Given the description of an element on the screen output the (x, y) to click on. 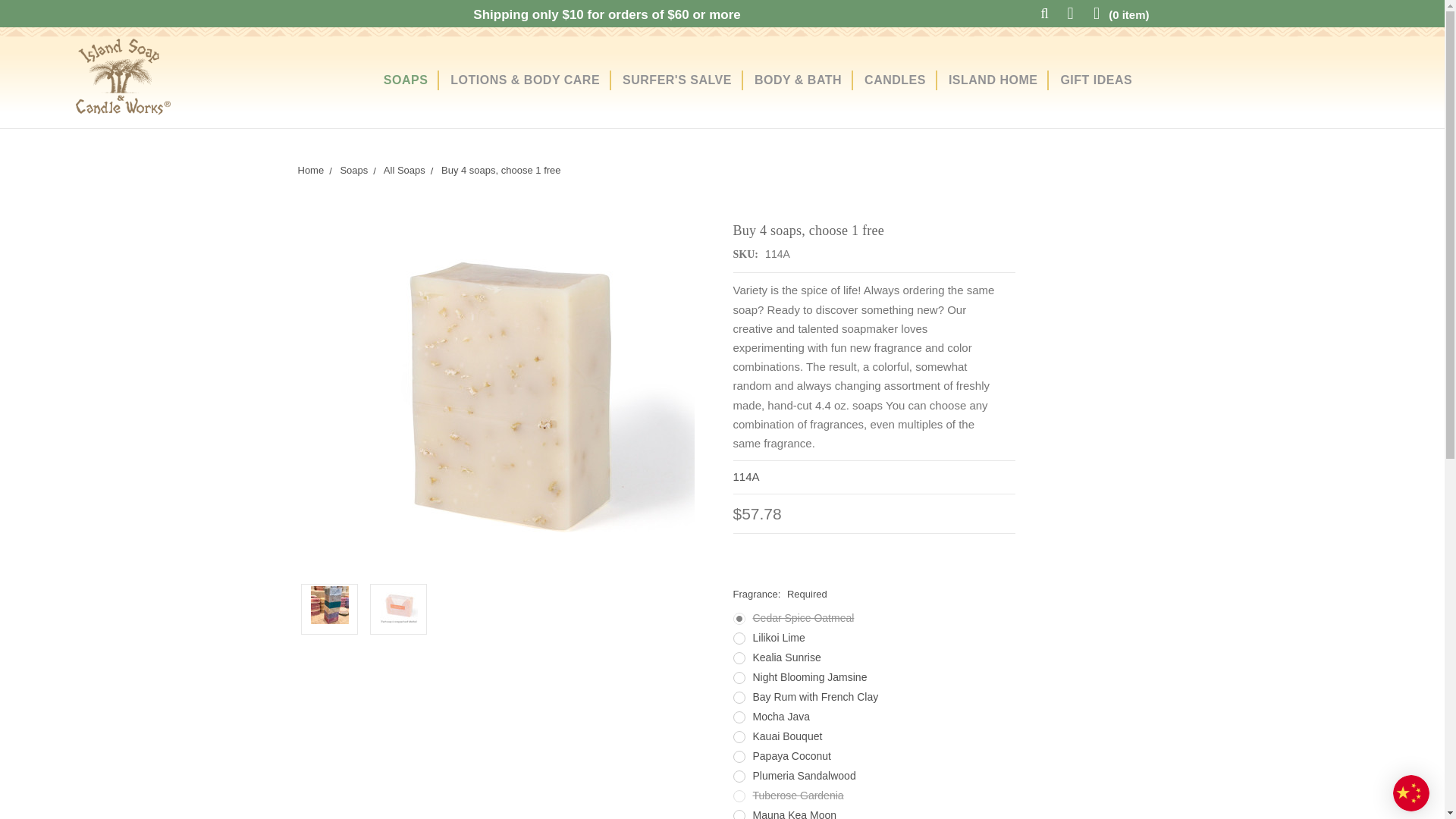
Open Zonos Hello (1411, 792)
SURFER'S SALVE (676, 80)
SOAPS (405, 80)
Buy 4 soaps, choose 1 free (330, 604)
Buy 4 soaps, choose 1 free (398, 604)
